Given the description of an element on the screen output the (x, y) to click on. 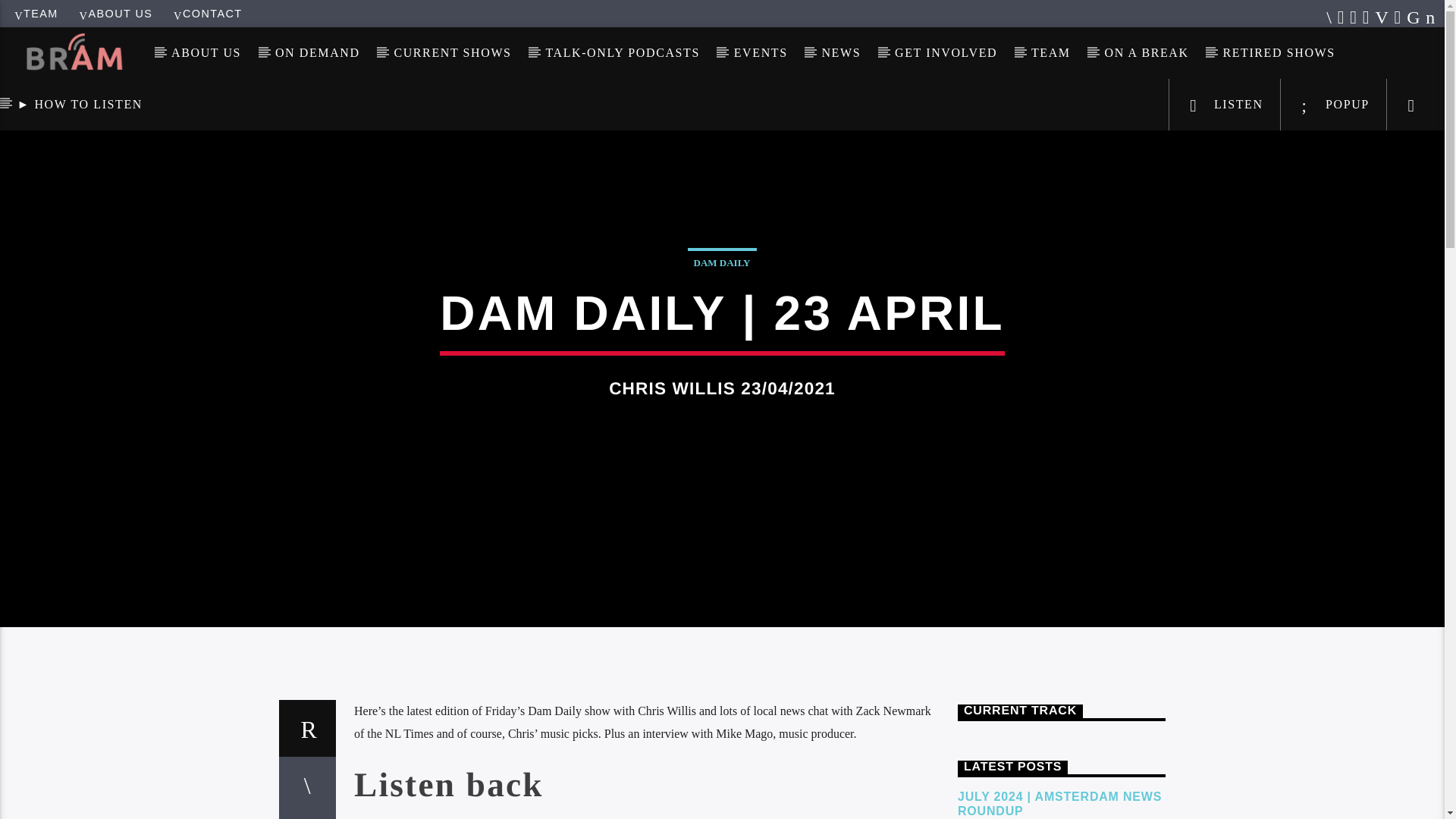
ABOUT US (206, 52)
ABOUT US (116, 13)
GET INVOLVED (945, 52)
TALK-ONLY PODCASTS (622, 52)
TEAM (1050, 52)
CURRENT SHOWS (452, 52)
ON DEMAND (318, 52)
EVENTS (760, 52)
CONTACT (207, 13)
TEAM (36, 13)
NEWS (841, 52)
ON A BREAK (1146, 52)
